Given the description of an element on the screen output the (x, y) to click on. 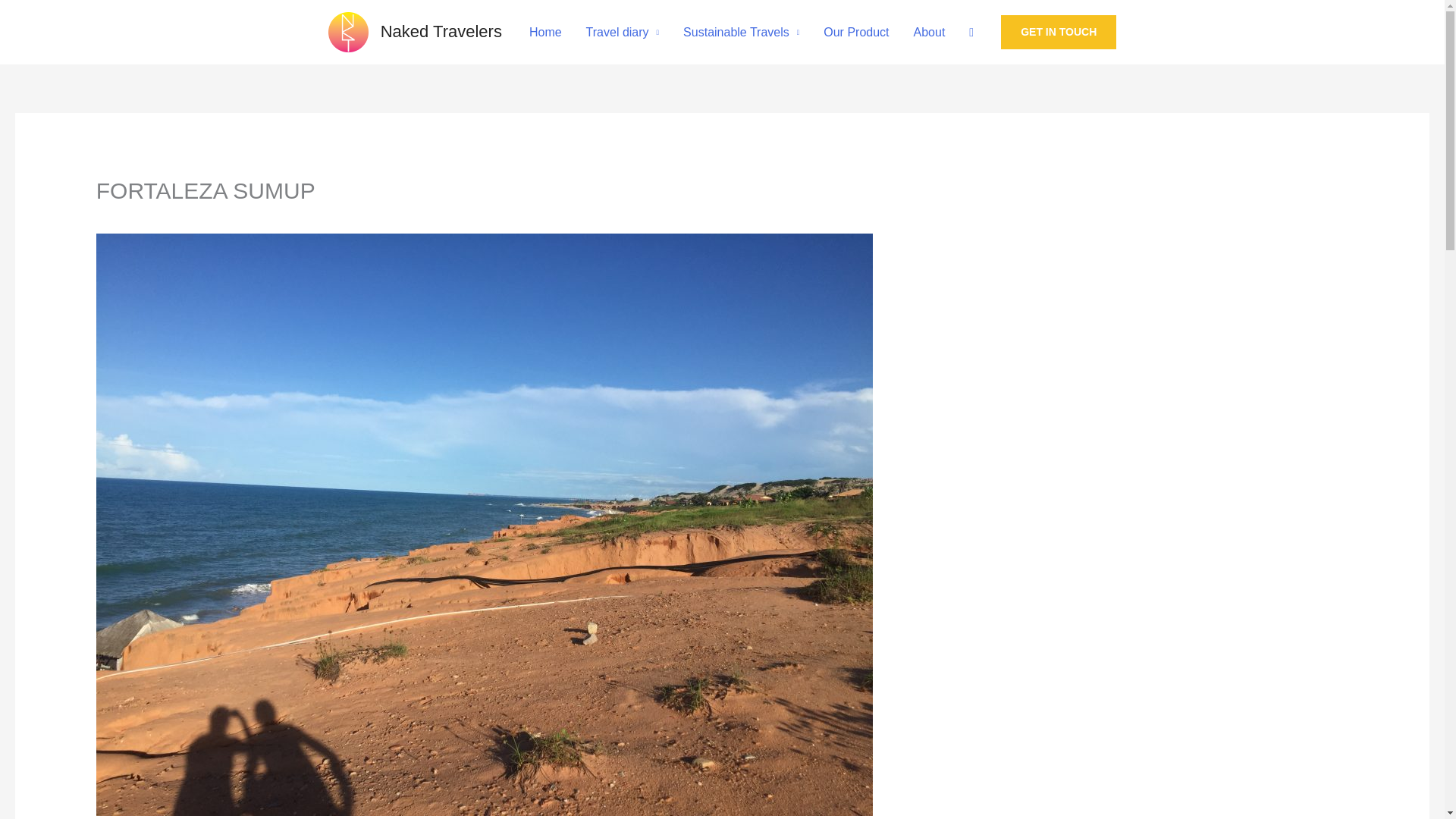
Home (544, 31)
Naked Travelers (441, 31)
Our Product (855, 31)
Travel diary (622, 31)
About (929, 31)
GET IN TOUCH (1058, 32)
Sustainable Travels (740, 31)
